Given the description of an element on the screen output the (x, y) to click on. 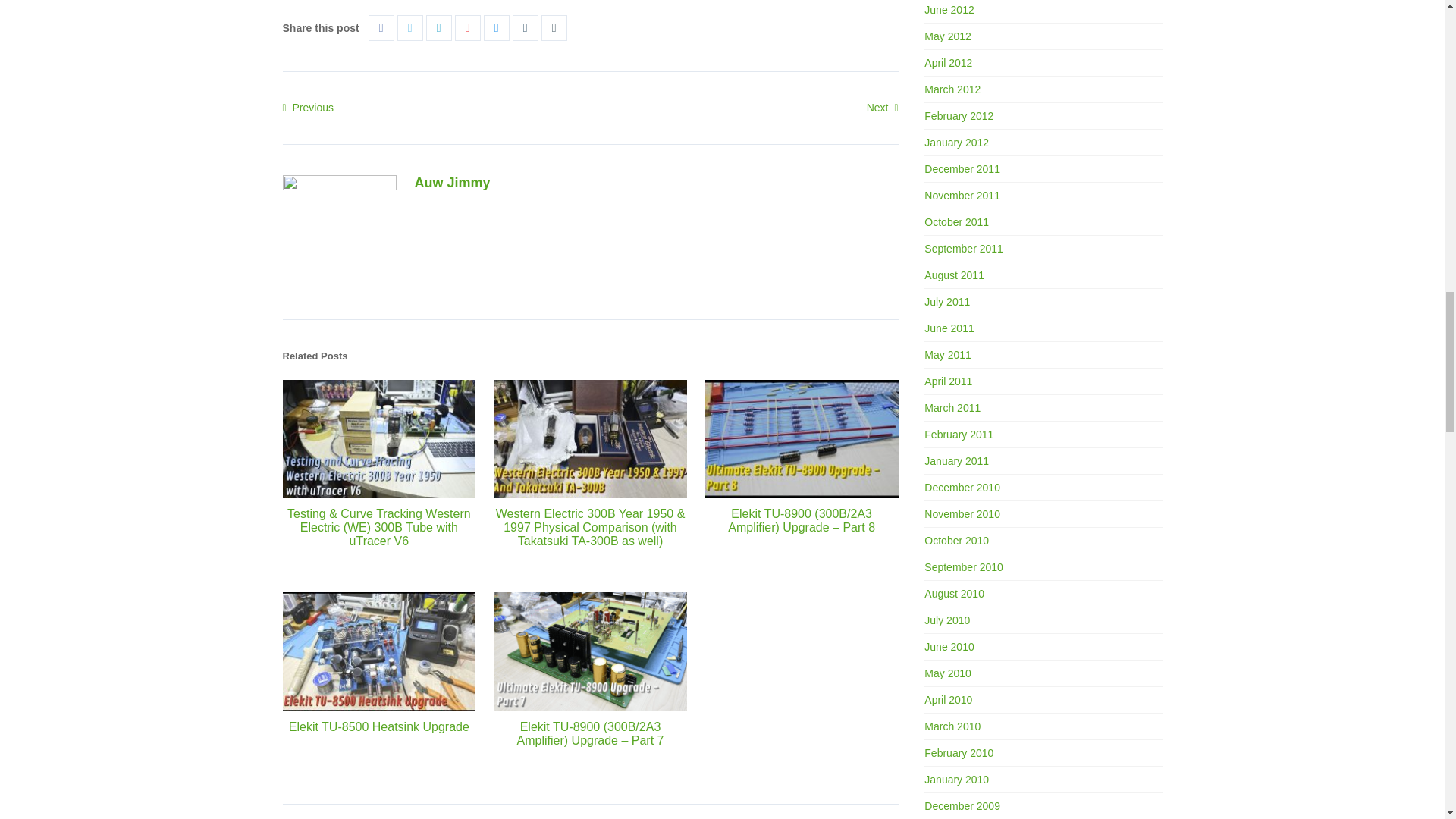
Next (882, 107)
Share on Facebook (381, 27)
Share on LinkedIn (438, 27)
Previous (307, 107)
Share on Tumblr (525, 27)
Share on Twitter (409, 27)
Share on WhatsApp (553, 27)
Auw Jimmy (451, 182)
Share on Pinterest (467, 27)
Posts by Auw Jimmy (451, 182)
Share on Reddit (496, 27)
